Given the description of an element on the screen output the (x, y) to click on. 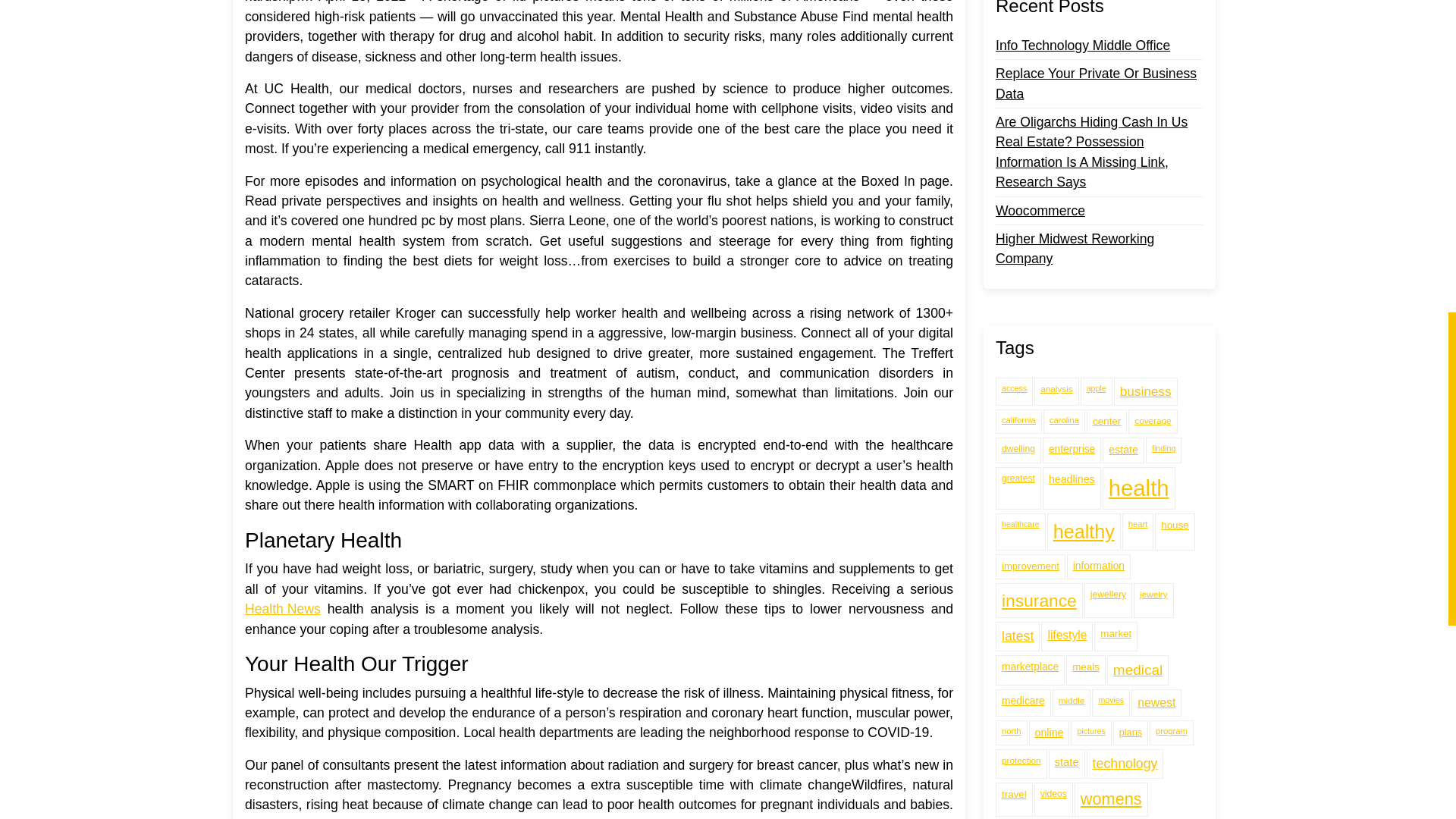
Health News (282, 608)
